Given the description of an element on the screen output the (x, y) to click on. 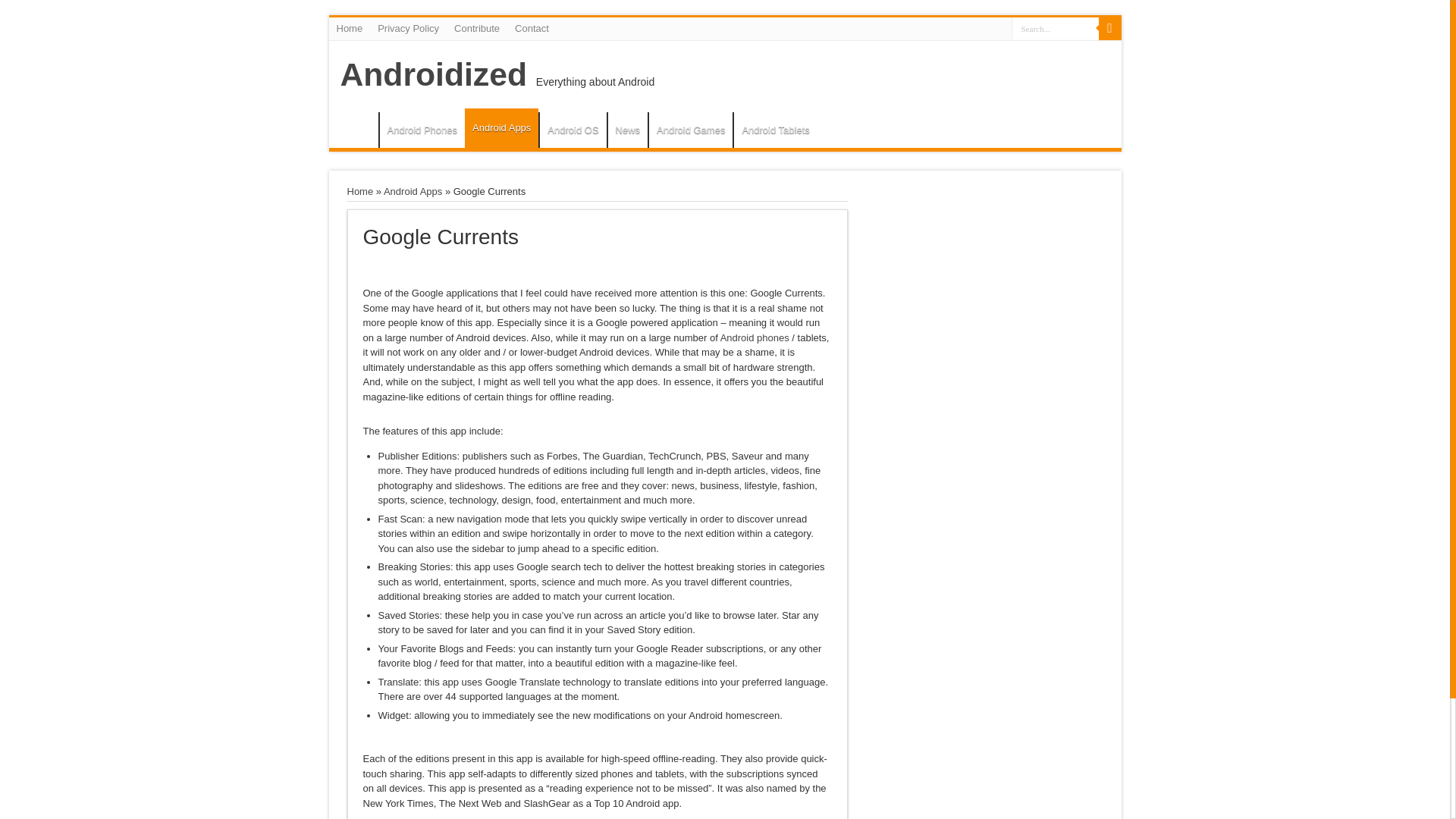
Home (357, 131)
Android OS (571, 130)
News (627, 130)
Search (1109, 28)
Contact (531, 28)
Android Tablets (774, 130)
Privacy Policy (407, 28)
Android phones (754, 337)
Contribute (476, 28)
Home (350, 28)
Android Phones (421, 130)
Search... (1055, 28)
Android Apps (413, 191)
Android Apps (501, 128)
Android Games (689, 130)
